Given the description of an element on the screen output the (x, y) to click on. 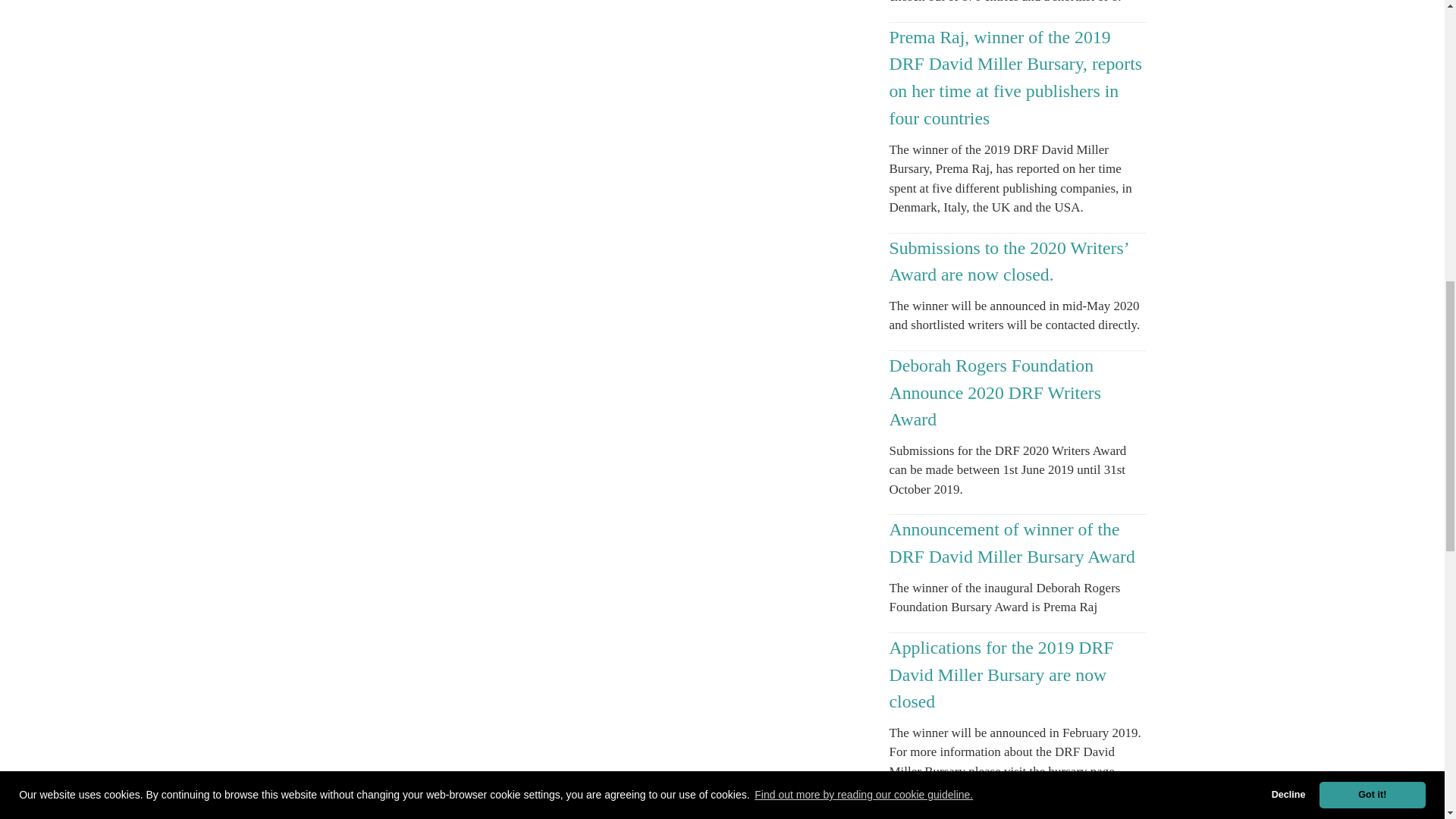
Deborah Rogers Foundation Announce 2020 DRF Writers Award (994, 392)
Announcement of winner of the DRF David Miller Bursary Award (1011, 542)
